Given the description of an element on the screen output the (x, y) to click on. 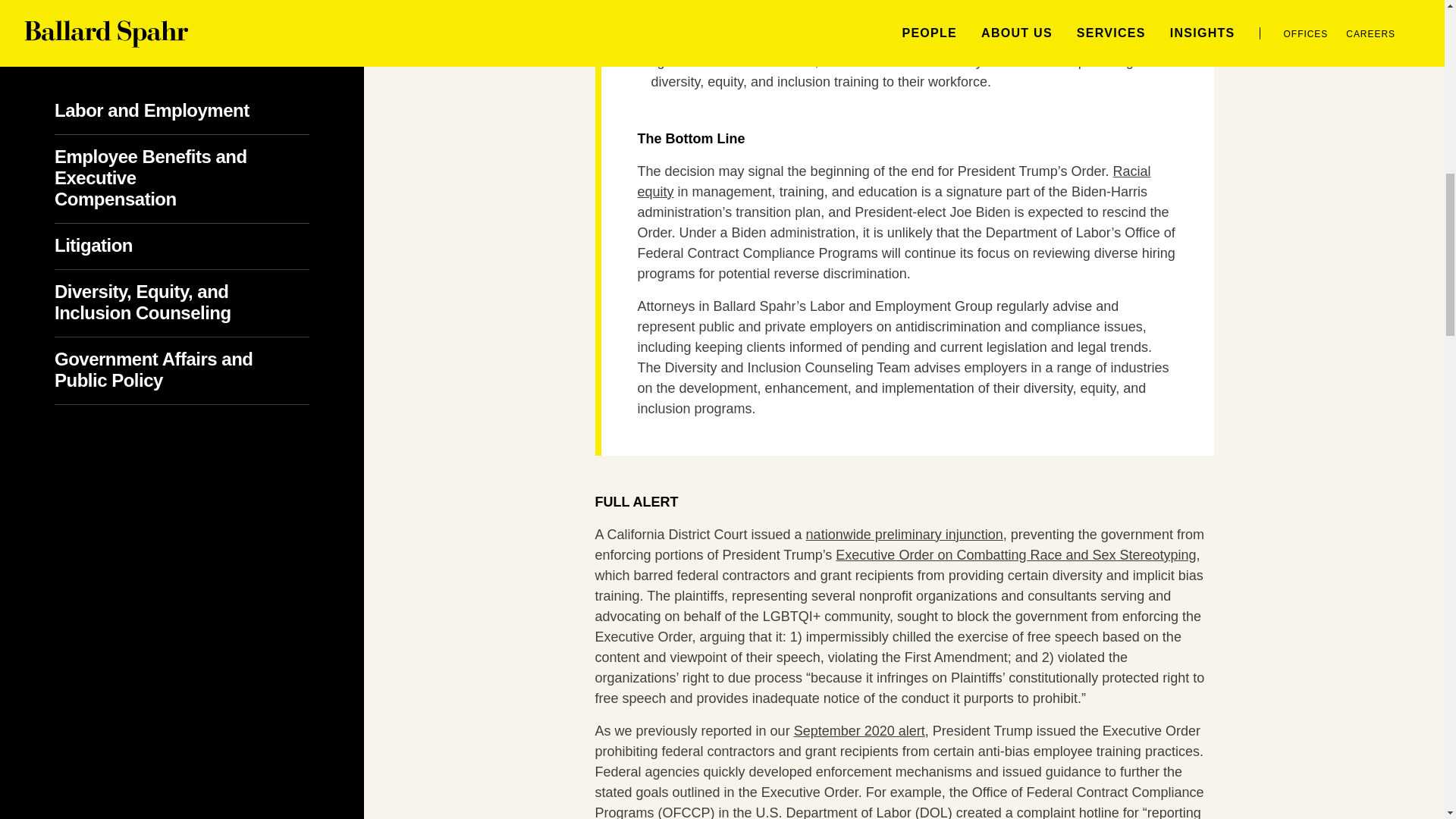
nationwide preliminary injunction (904, 534)
September 2020 alert (858, 730)
Executive Order on Combatting Race and Sex Stereotyping (1015, 554)
Racial equity (893, 181)
